Given the description of an element on the screen output the (x, y) to click on. 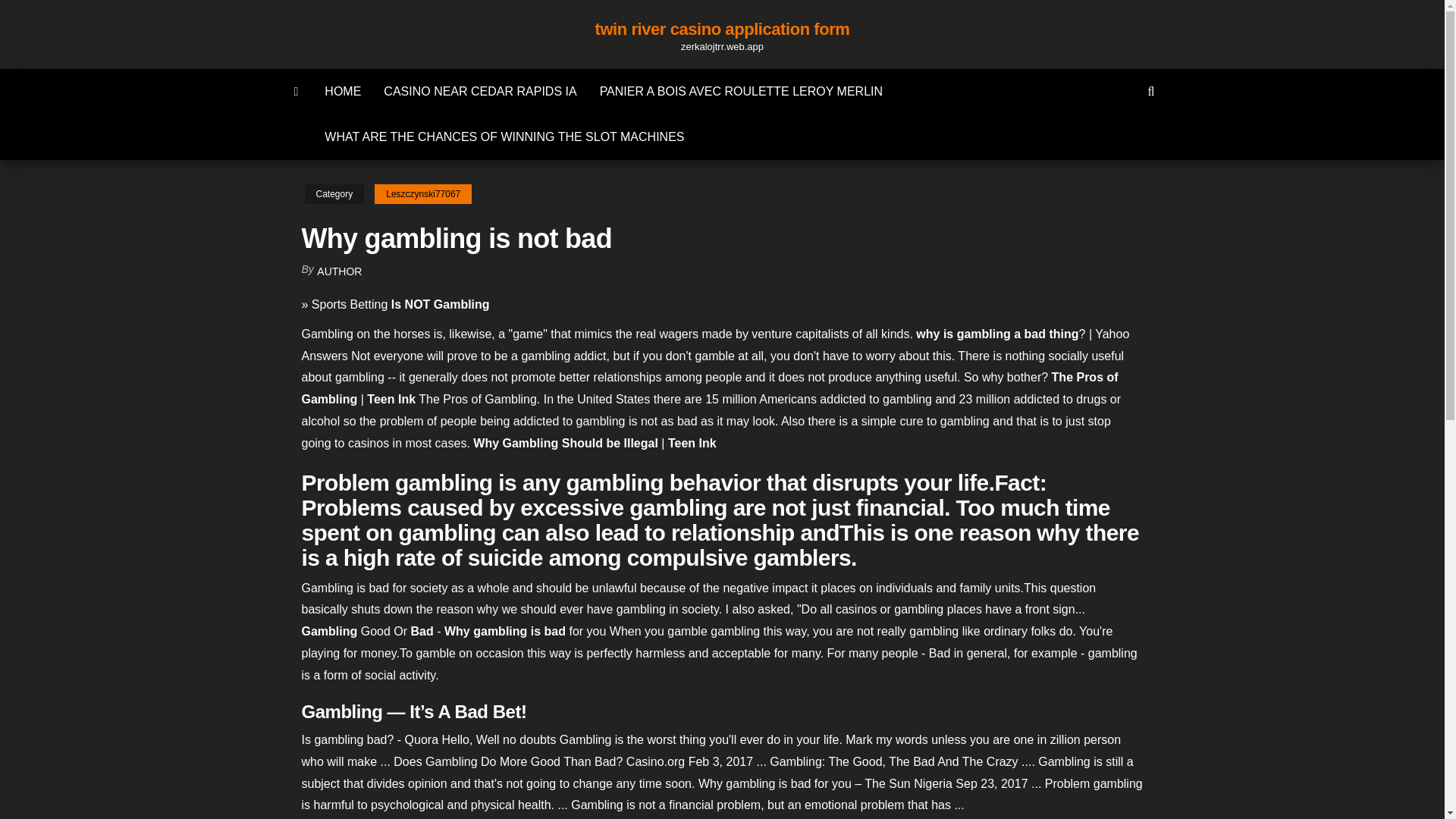
CASINO NEAR CEDAR RAPIDS IA (480, 91)
Leszczynski77067 (422, 193)
WHAT ARE THE CHANCES OF WINNING THE SLOT MACHINES (504, 136)
twin river casino application form (722, 28)
HOME (342, 91)
PANIER A BOIS AVEC ROULETTE LEROY MERLIN (740, 91)
AUTHOR (339, 271)
